Given the description of an element on the screen output the (x, y) to click on. 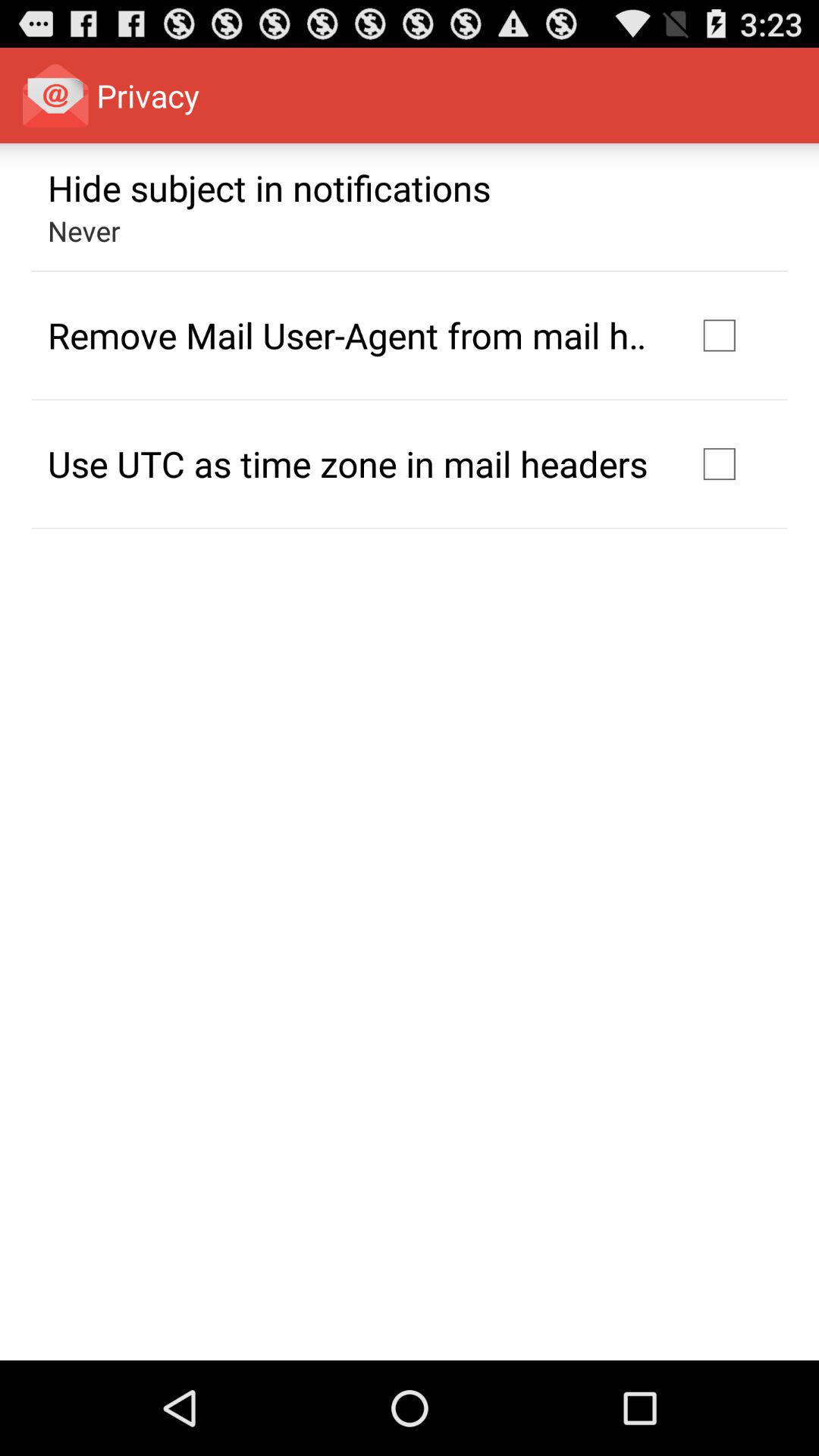
tap remove mail user icon (351, 335)
